Given the description of an element on the screen output the (x, y) to click on. 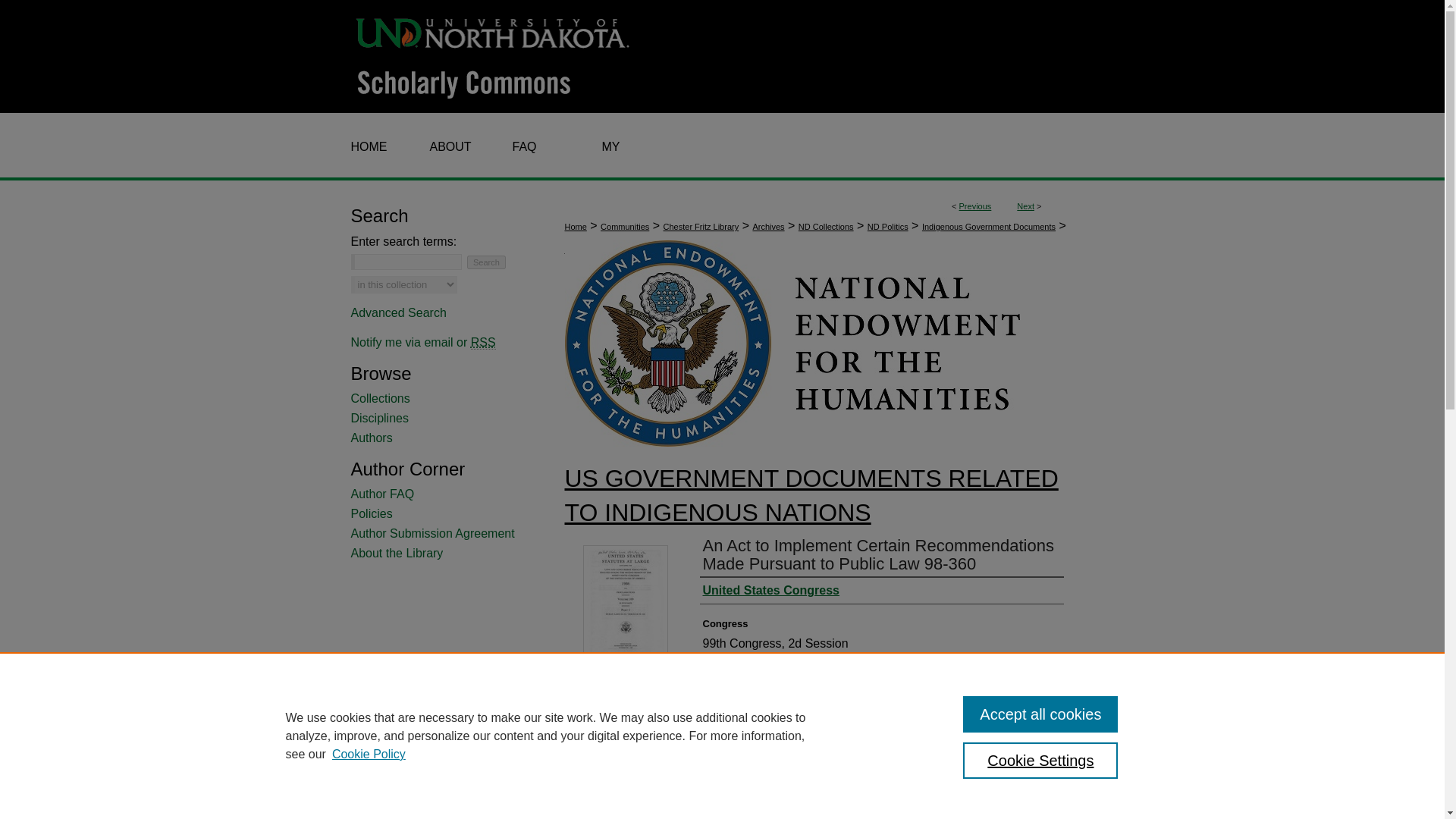
About (444, 146)
Indigenous Studies Commons (619, 778)
University of North Dakota (492, 31)
Search (486, 262)
Chester Fritz Library (701, 225)
United States Congress (769, 590)
American Politics Commons (616, 734)
My Account (610, 146)
Indigenous Studies Commons (619, 778)
ND Politics (887, 225)
165 (571, 248)
MY ACCOUNT (610, 146)
FAQ (520, 146)
Native American Studies Commons (609, 812)
Native American Studies Commons (609, 812)
